Given the description of an element on the screen output the (x, y) to click on. 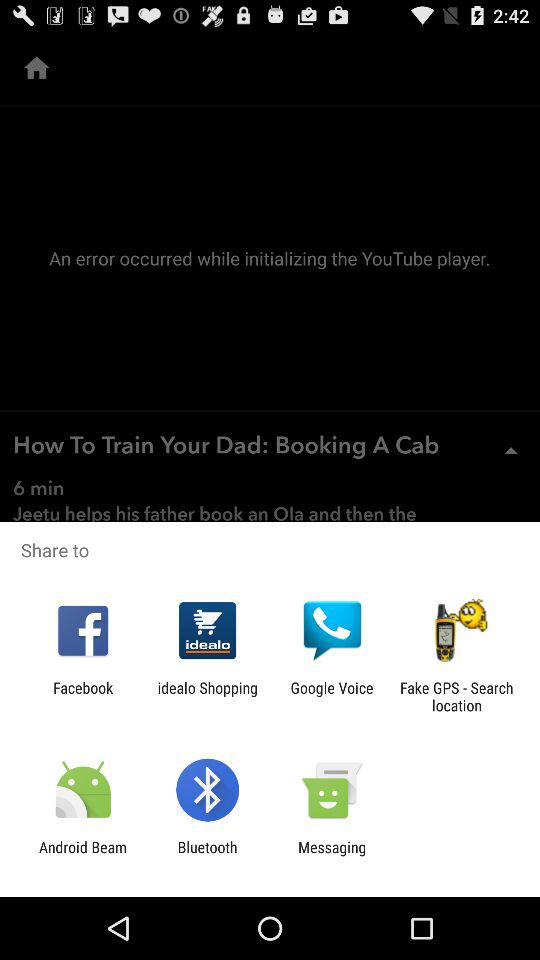
press the item next to the google voice icon (456, 696)
